Given the description of an element on the screen output the (x, y) to click on. 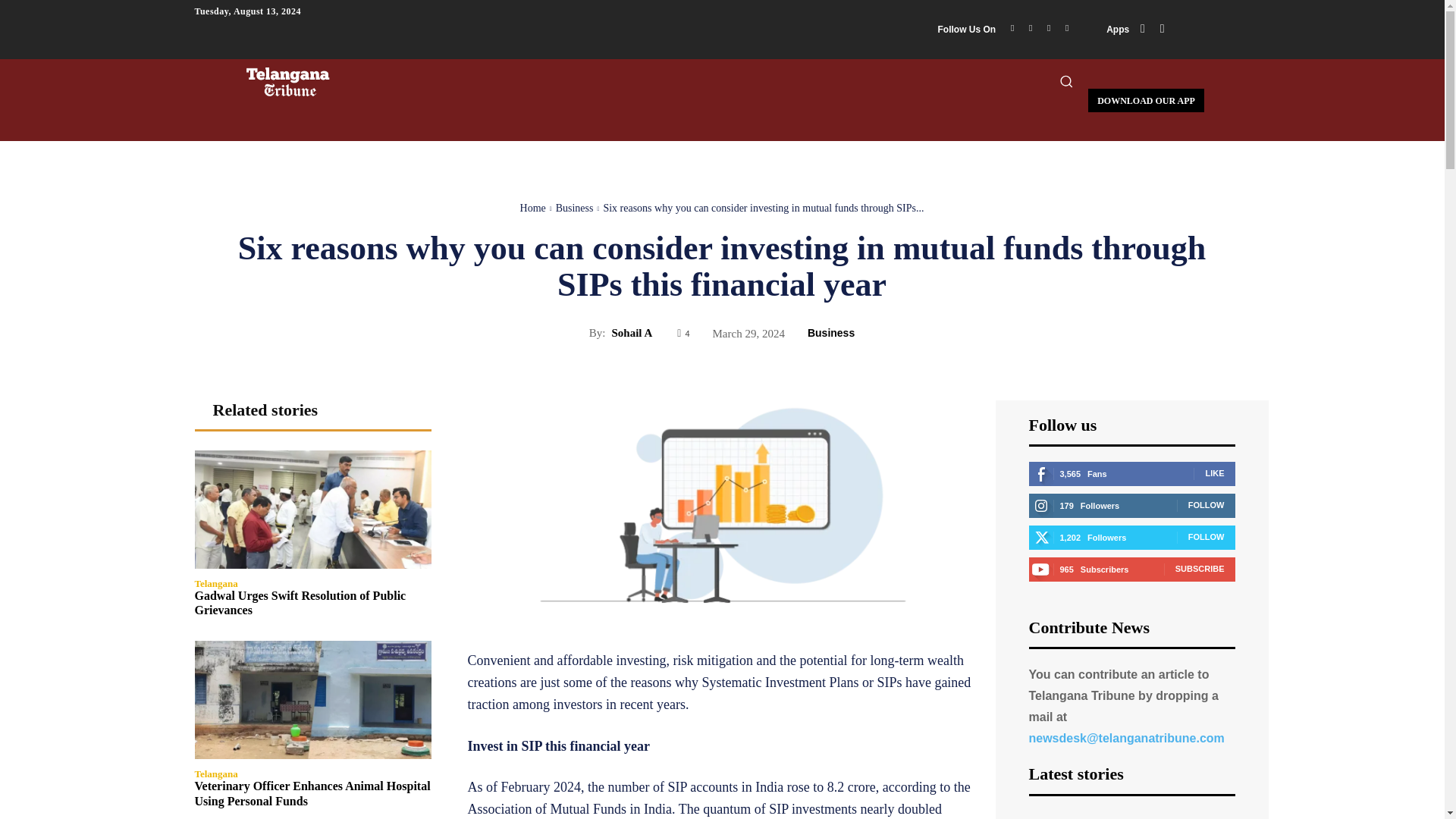
Twitter (1048, 27)
Instagram (1030, 27)
Youtube (1066, 27)
Facebook (1012, 27)
